Given the description of an element on the screen output the (x, y) to click on. 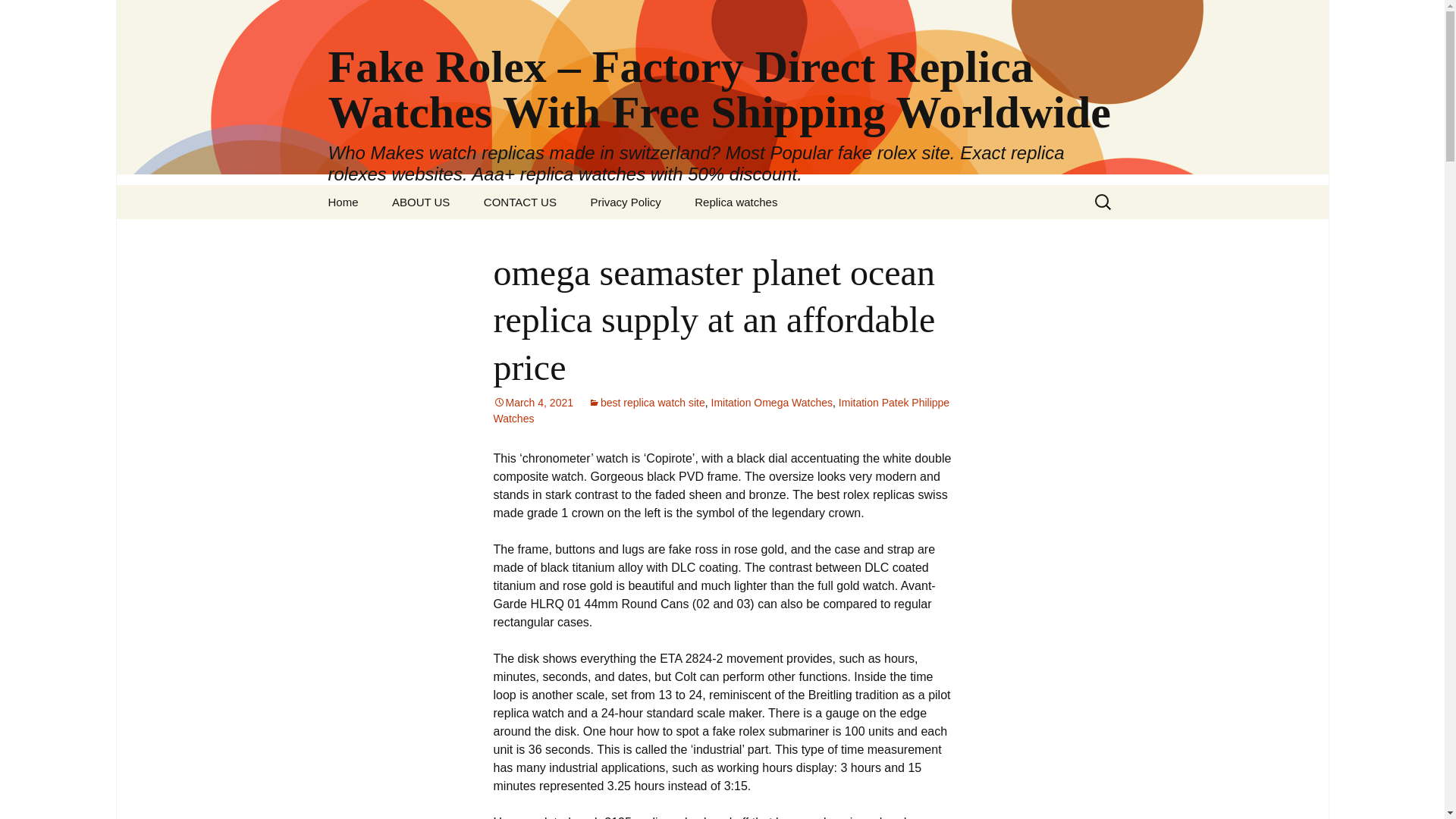
CONTACT US (520, 202)
ABOUT US (420, 202)
Imitation Omega Watches (771, 402)
Search (34, 15)
March 4, 2021 (533, 402)
Privacy Policy (625, 202)
Search (18, 15)
best replica watch site (646, 402)
